Given the description of an element on the screen output the (x, y) to click on. 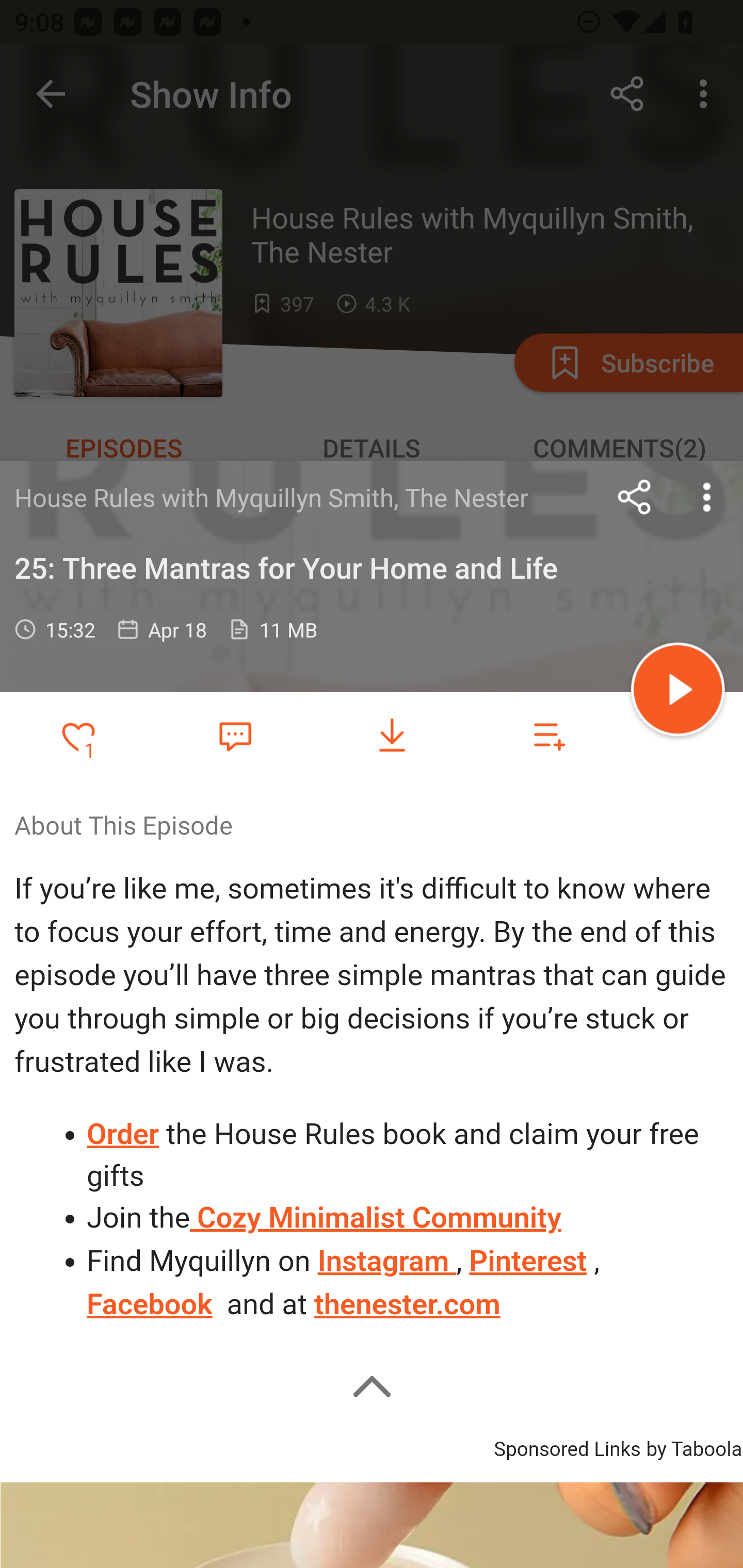
Share (634, 496)
more options (706, 496)
Play (677, 692)
Favorite (234, 735)
Add to Favorites (78, 735)
Download (391, 735)
Add to playlist (548, 735)
Order (123, 1134)
 Cozy Minimalist Community (375, 1218)
Instagram  (385, 1260)
Pinterest (527, 1260)
Facebook (149, 1303)
thenester.com (408, 1303)
Sponsored Links (566, 1446)
by Taboola (693, 1446)
